Given the description of an element on the screen output the (x, y) to click on. 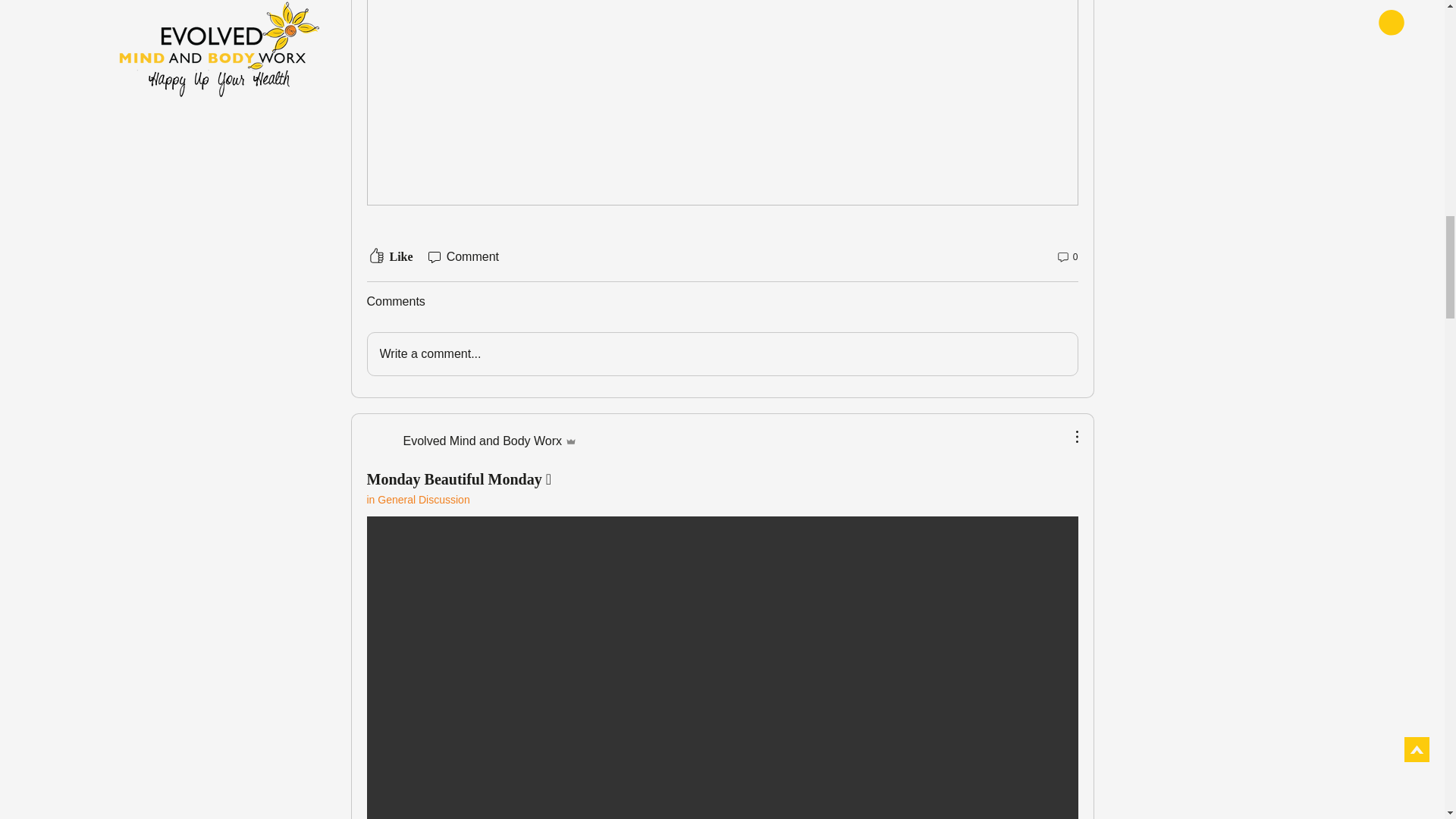
Comment (462, 257)
Evolved Mind and Body Worx (472, 441)
0 (1066, 257)
Write a comment... (721, 353)
Like (389, 257)
in General Discussion (418, 499)
